Given the description of an element on the screen output the (x, y) to click on. 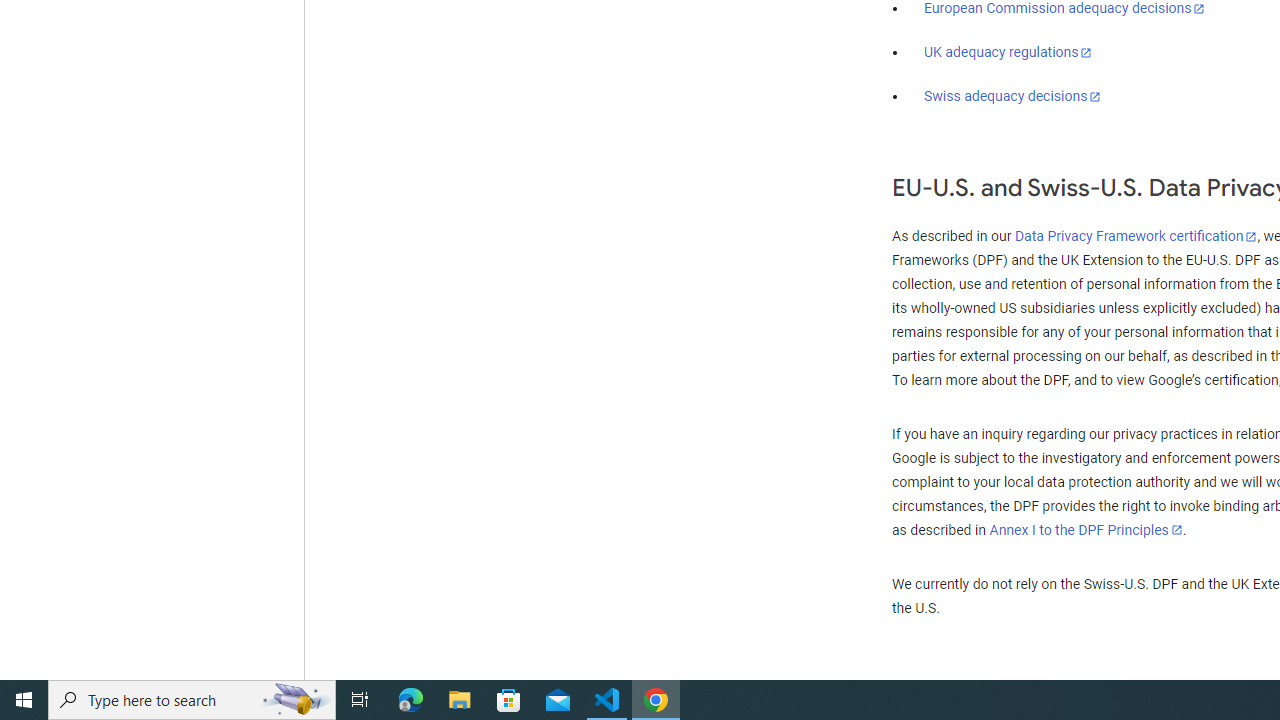
Swiss adequacy decisions (1013, 96)
UK adequacy regulations (1008, 52)
European Commission adequacy decisions (1064, 9)
Data Privacy Framework certification (1135, 237)
Annex I to the DPF Principles (1085, 530)
